Given the description of an element on the screen output the (x, y) to click on. 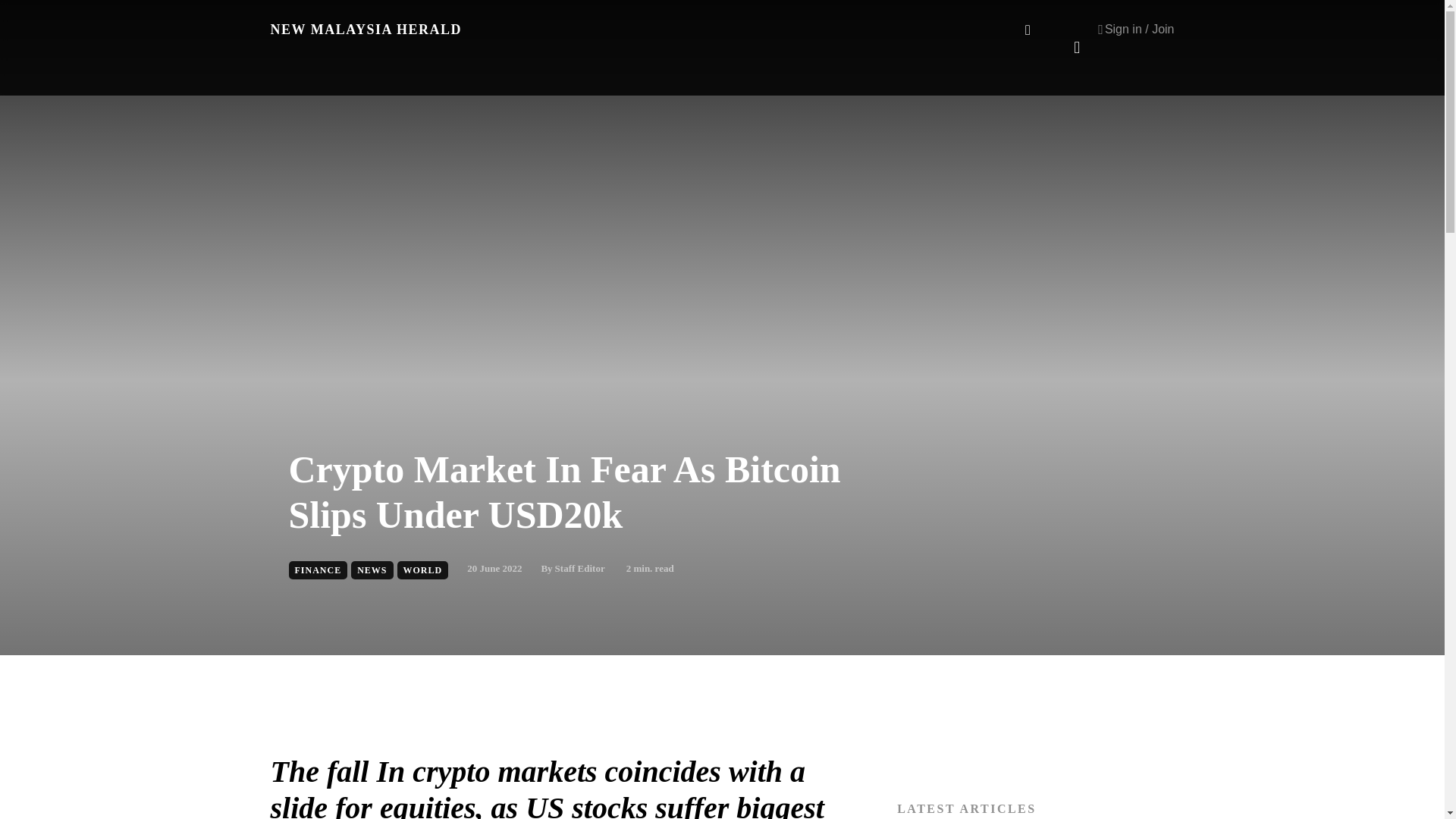
NEW MALAYSIA HERALD (365, 29)
FINANCE (317, 570)
WORLD (422, 570)
Staff Editor (579, 568)
NEWS (371, 570)
